Given the description of an element on the screen output the (x, y) to click on. 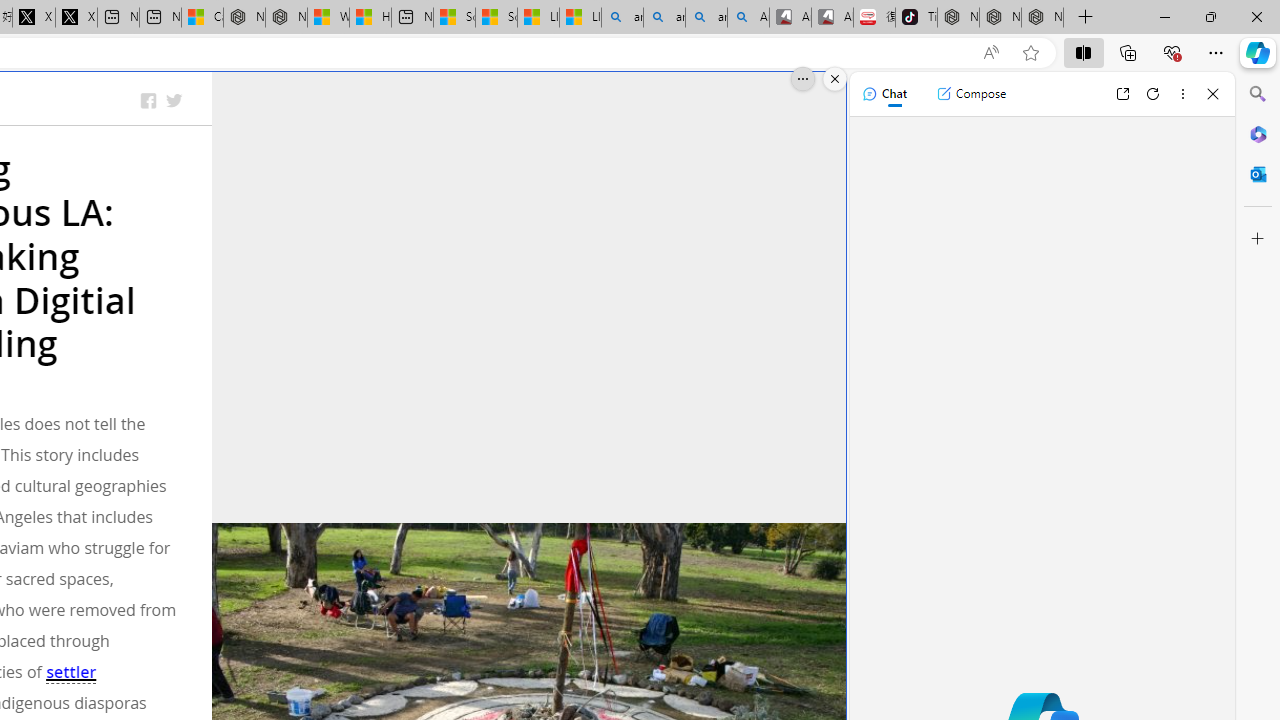
Customize (1258, 239)
Nordace - Best Sellers (958, 17)
Collections (1128, 52)
amazon - Search Images (706, 17)
amazon - Search (663, 17)
All Cubot phones (831, 17)
Minimize (1164, 16)
Wildlife - MSN (328, 17)
Search (1258, 94)
Add this page to favorites (Ctrl+D) (1030, 53)
Huge shark washes ashore at New York City beach | Watch (369, 17)
Refresh (1153, 93)
Nordace - Siena Pro 15 Essential Set (1042, 17)
More options (1182, 93)
